Given the description of an element on the screen output the (x, y) to click on. 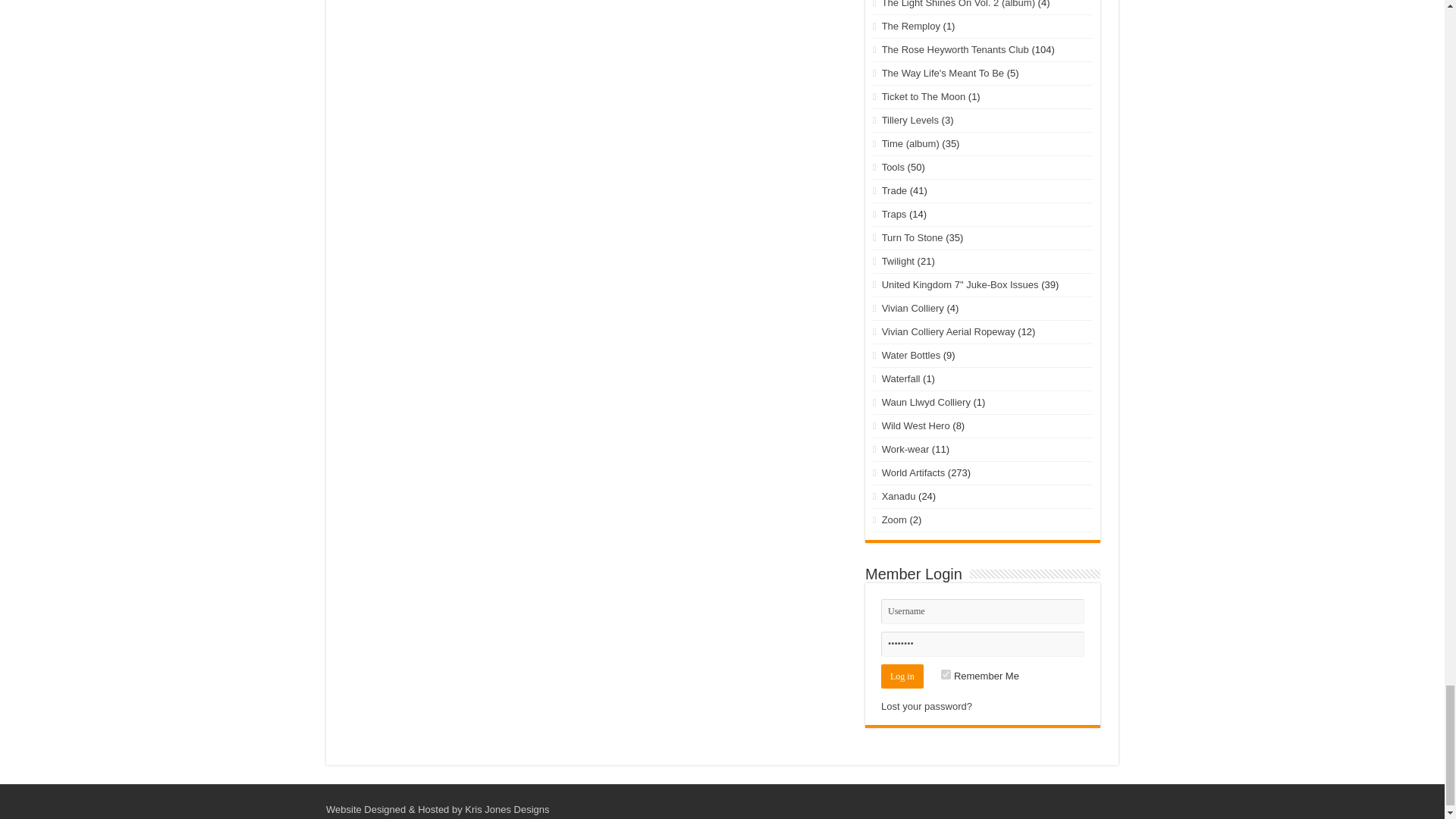
Username (982, 611)
Log in (901, 676)
Password (982, 643)
forever (945, 674)
Password (982, 643)
Username (982, 611)
